Given the description of an element on the screen output the (x, y) to click on. 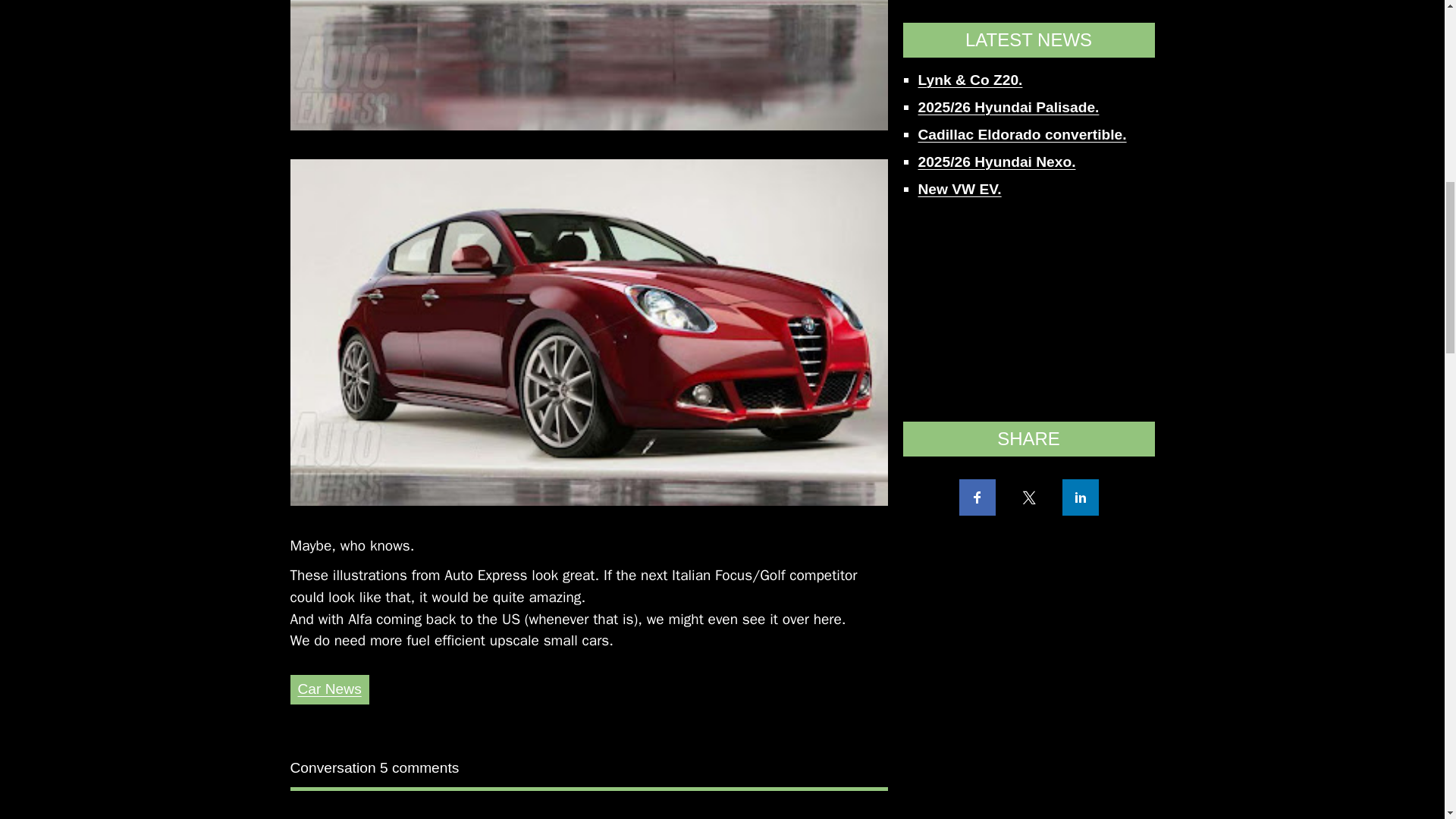
Car News (329, 688)
Advertisement (1028, 14)
